Given the description of an element on the screen output the (x, y) to click on. 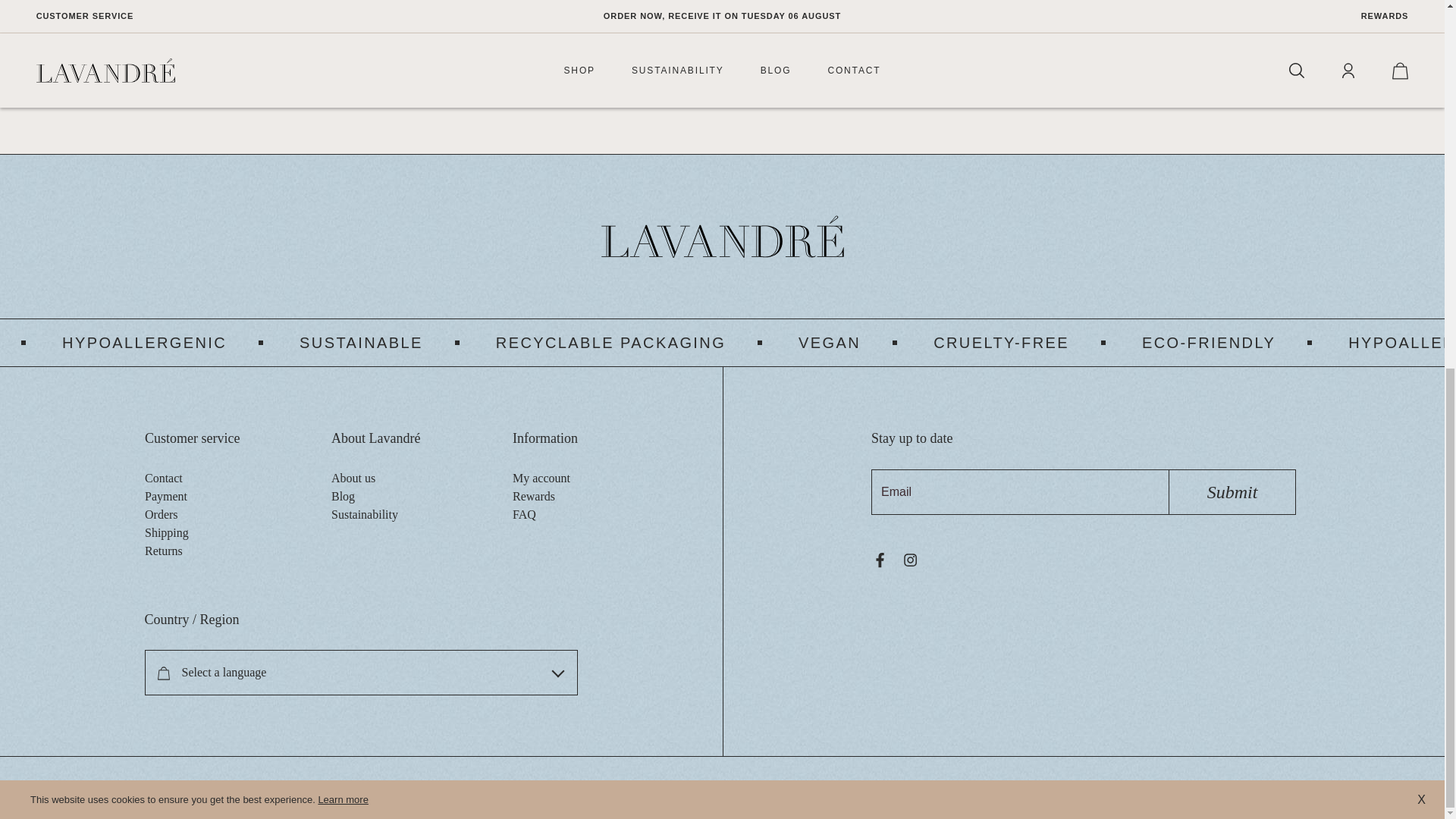
Learn more (342, 133)
Terms of use (50, 787)
Sustainability (364, 513)
Rewards (533, 495)
Please enter a valid e-mail address (1019, 492)
Payment (165, 495)
Privacy policy (121, 787)
FAQ (523, 513)
Blog (343, 495)
Submit (1232, 492)
Shipping (165, 532)
Contact (163, 477)
Orders (160, 513)
About us (353, 477)
My account (541, 477)
